Given the description of an element on the screen output the (x, y) to click on. 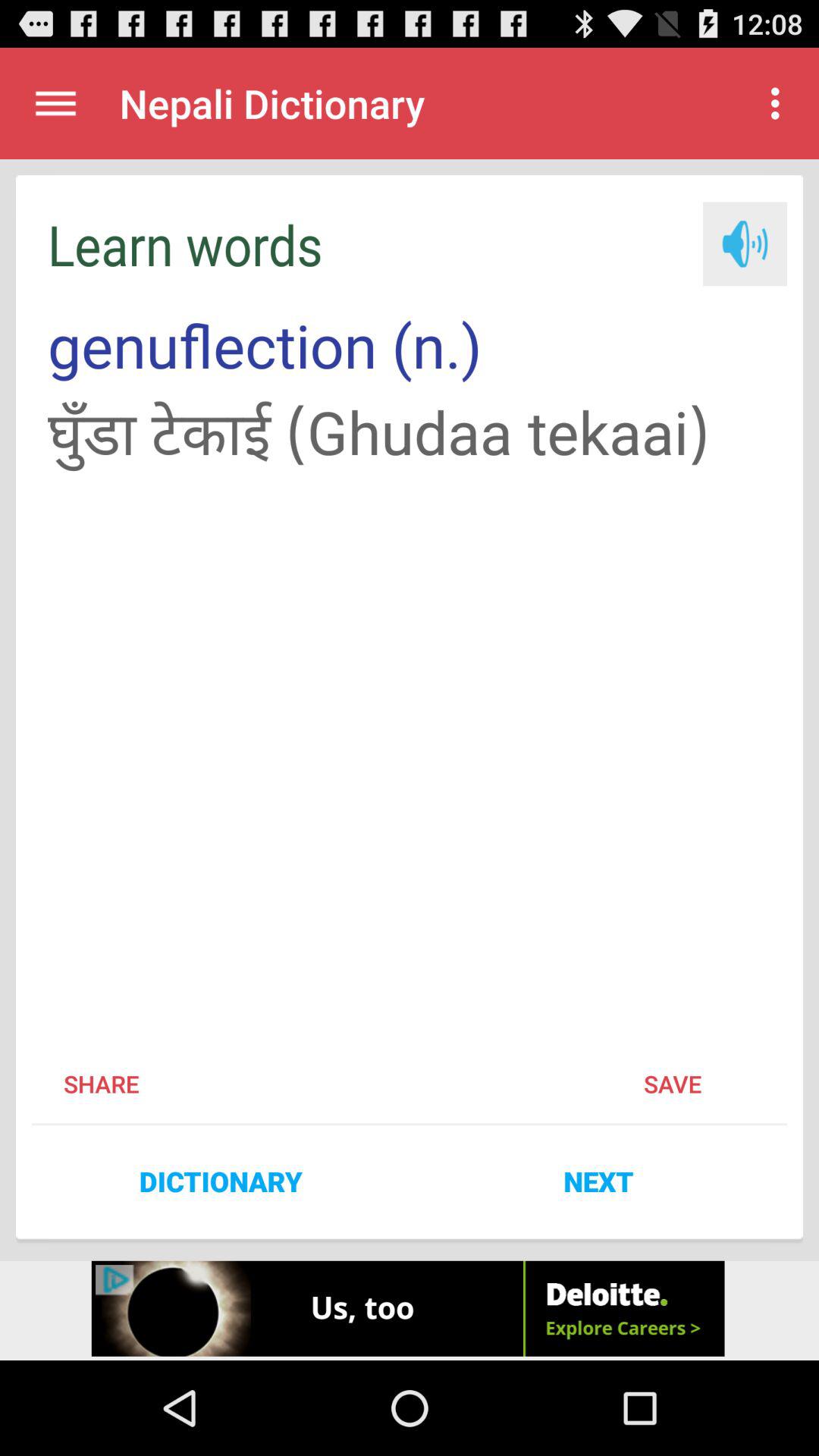
speaker option (744, 243)
